Given the description of an element on the screen output the (x, y) to click on. 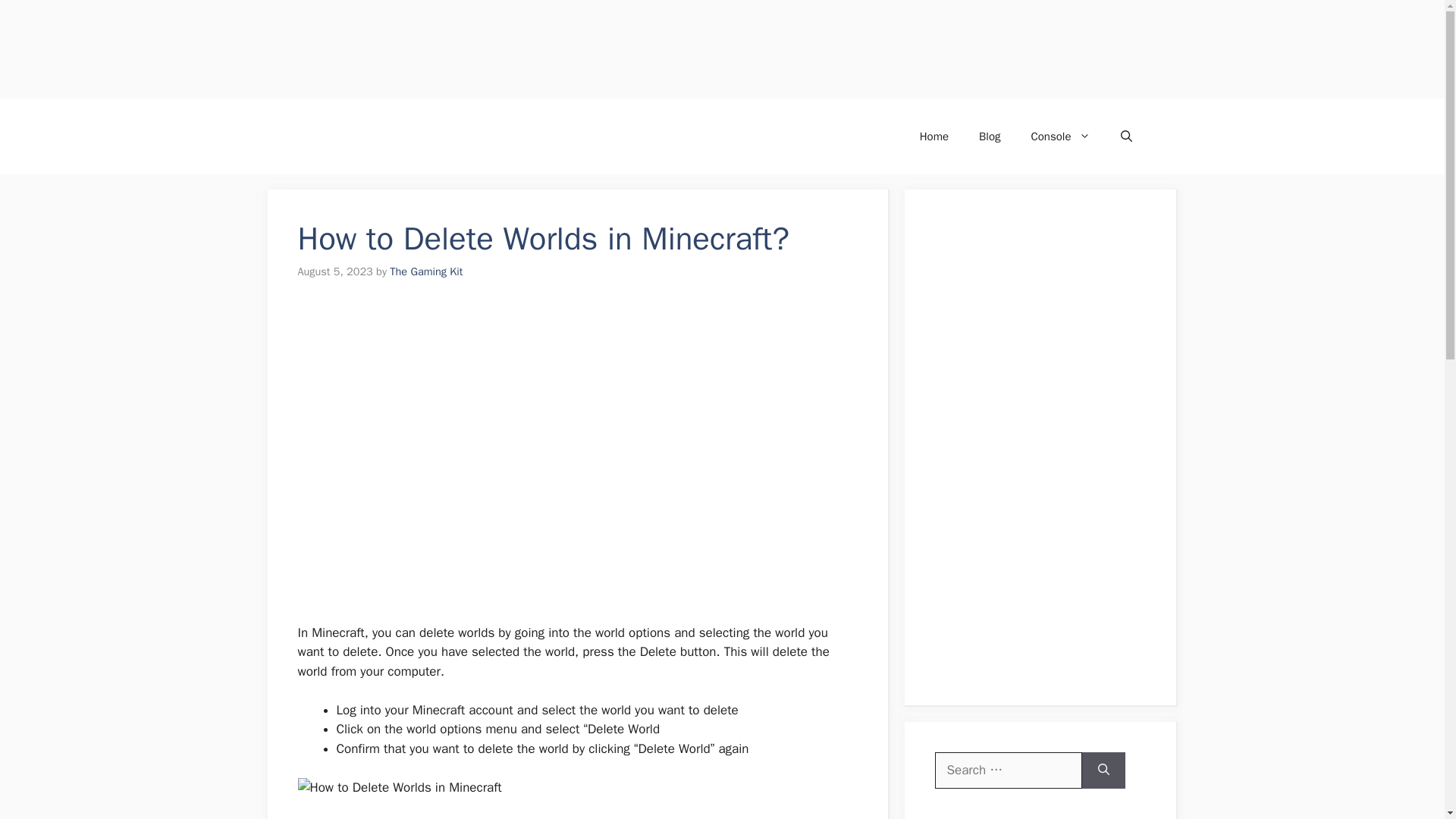
Search for: (1007, 770)
Advertisement (569, 529)
Console (1059, 135)
Home (933, 135)
View all posts by The Gaming Kit (426, 271)
Advertisement (455, 49)
Blog (988, 135)
The Gaming Kit (426, 271)
